Given the description of an element on the screen output the (x, y) to click on. 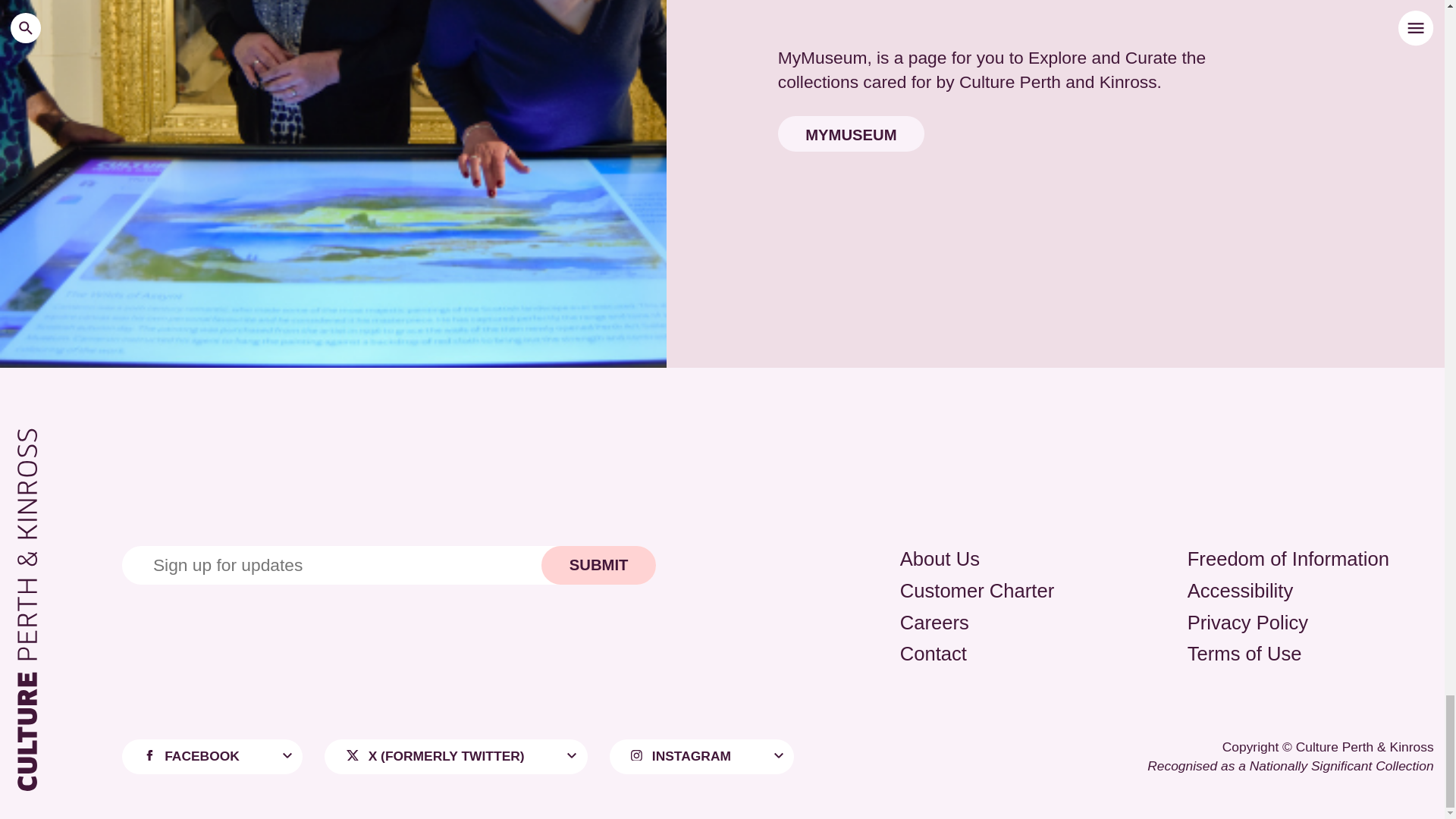
Submit (598, 564)
